Given the description of an element on the screen output the (x, y) to click on. 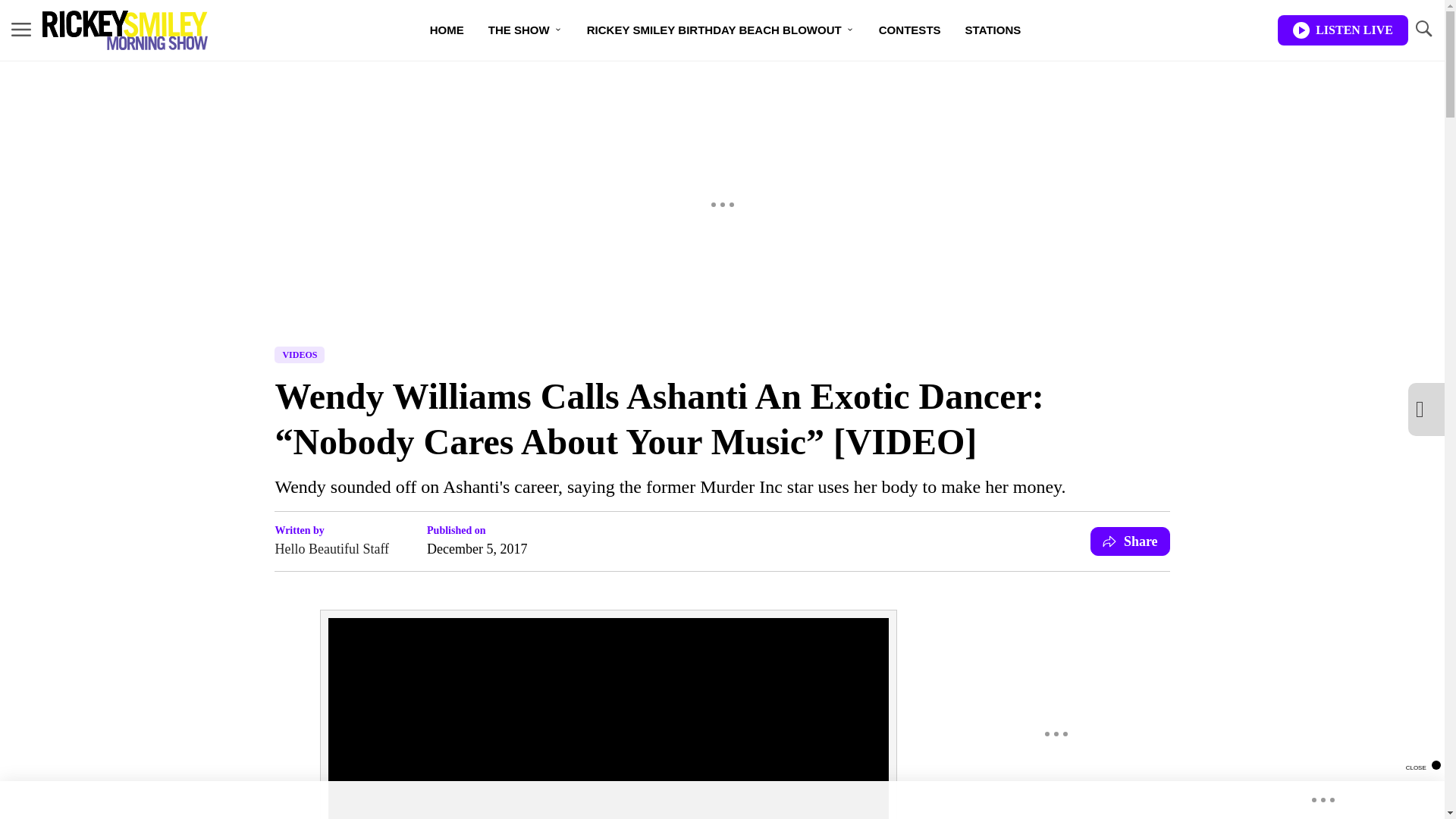
MENU (20, 30)
TOGGLE SEARCH (1422, 30)
VIDEOS (299, 354)
Stations (993, 30)
Hello Beautiful Staff (331, 548)
CONTESTS (909, 30)
THE SHOW (525, 30)
HOME (446, 30)
MENU (20, 29)
RICKEY SMILEY BIRTHDAY BEACH BLOWOUT (720, 30)
